Given the description of an element on the screen output the (x, y) to click on. 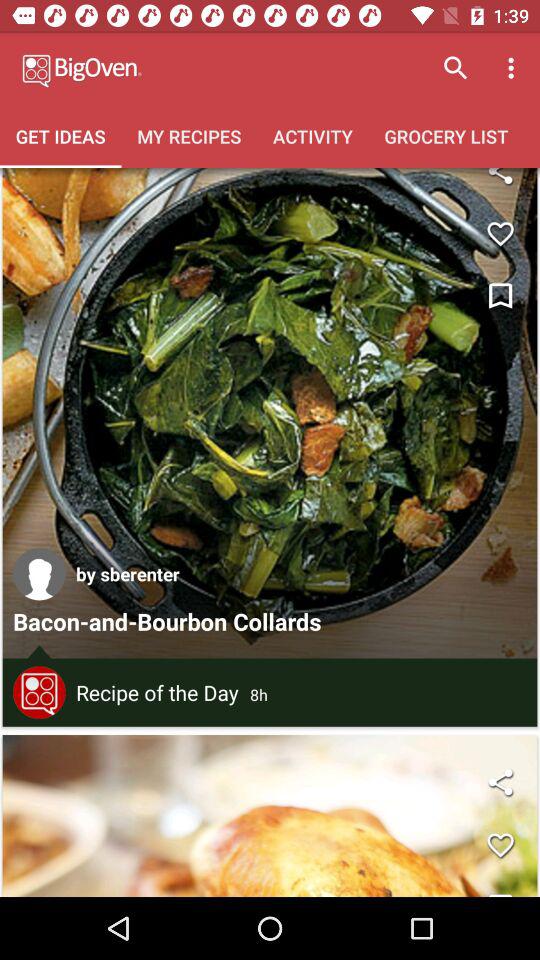
click share (500, 182)
